Given the description of an element on the screen output the (x, y) to click on. 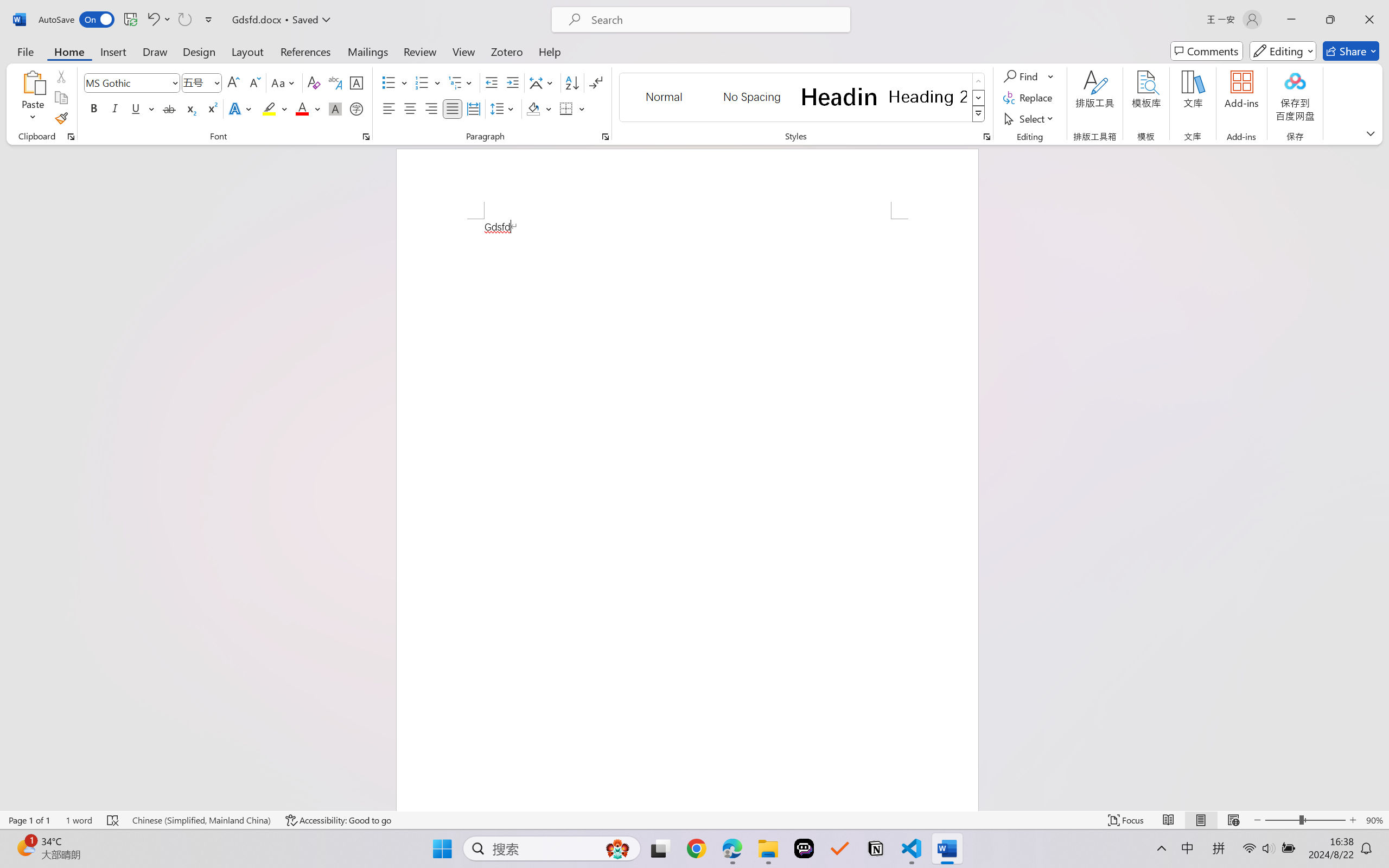
Undo Font Formatting (152, 19)
